Given the description of an element on the screen output the (x, y) to click on. 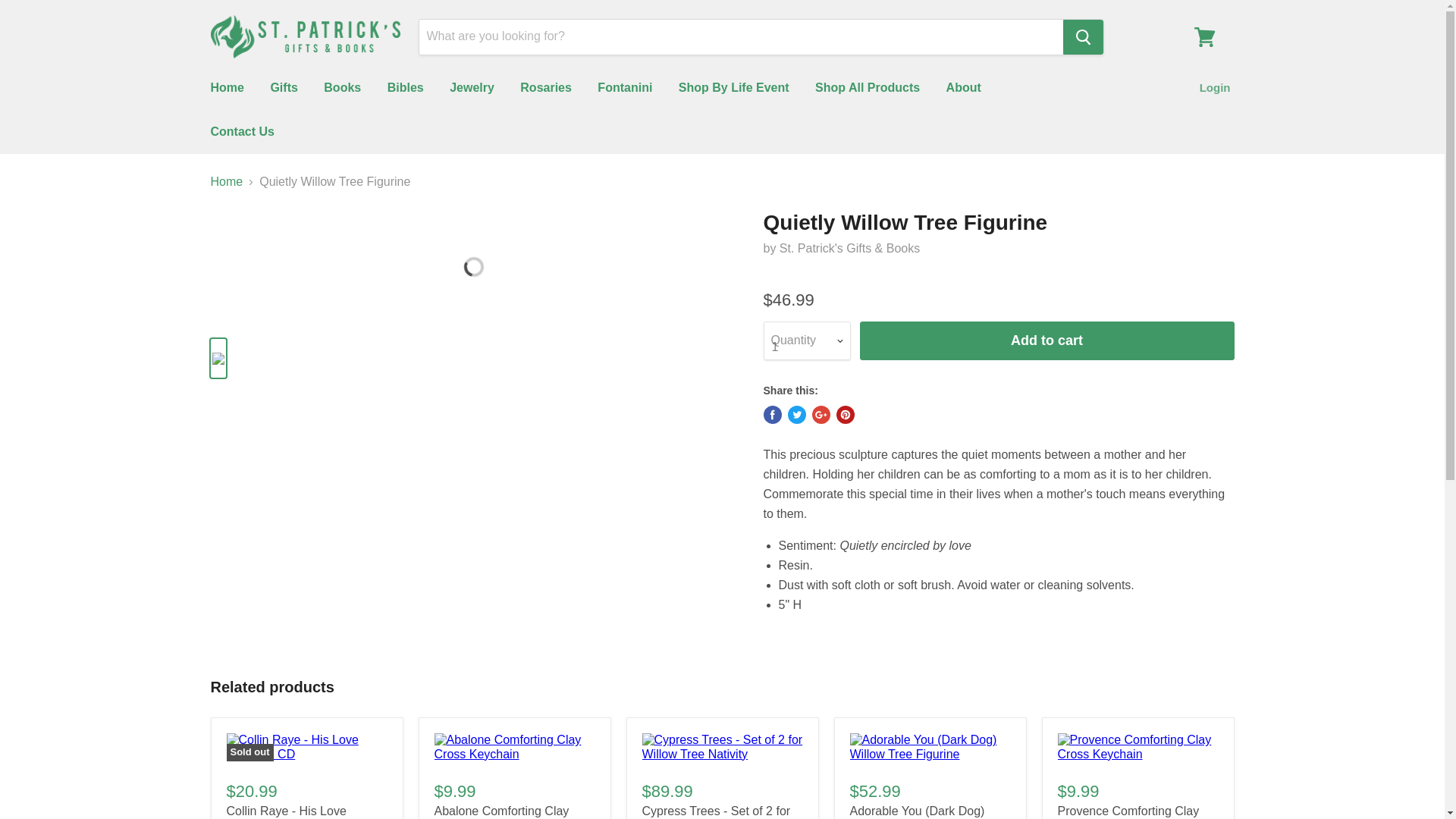
Gifts (283, 88)
View cart (1204, 36)
Home (226, 88)
